Given the description of an element on the screen output the (x, y) to click on. 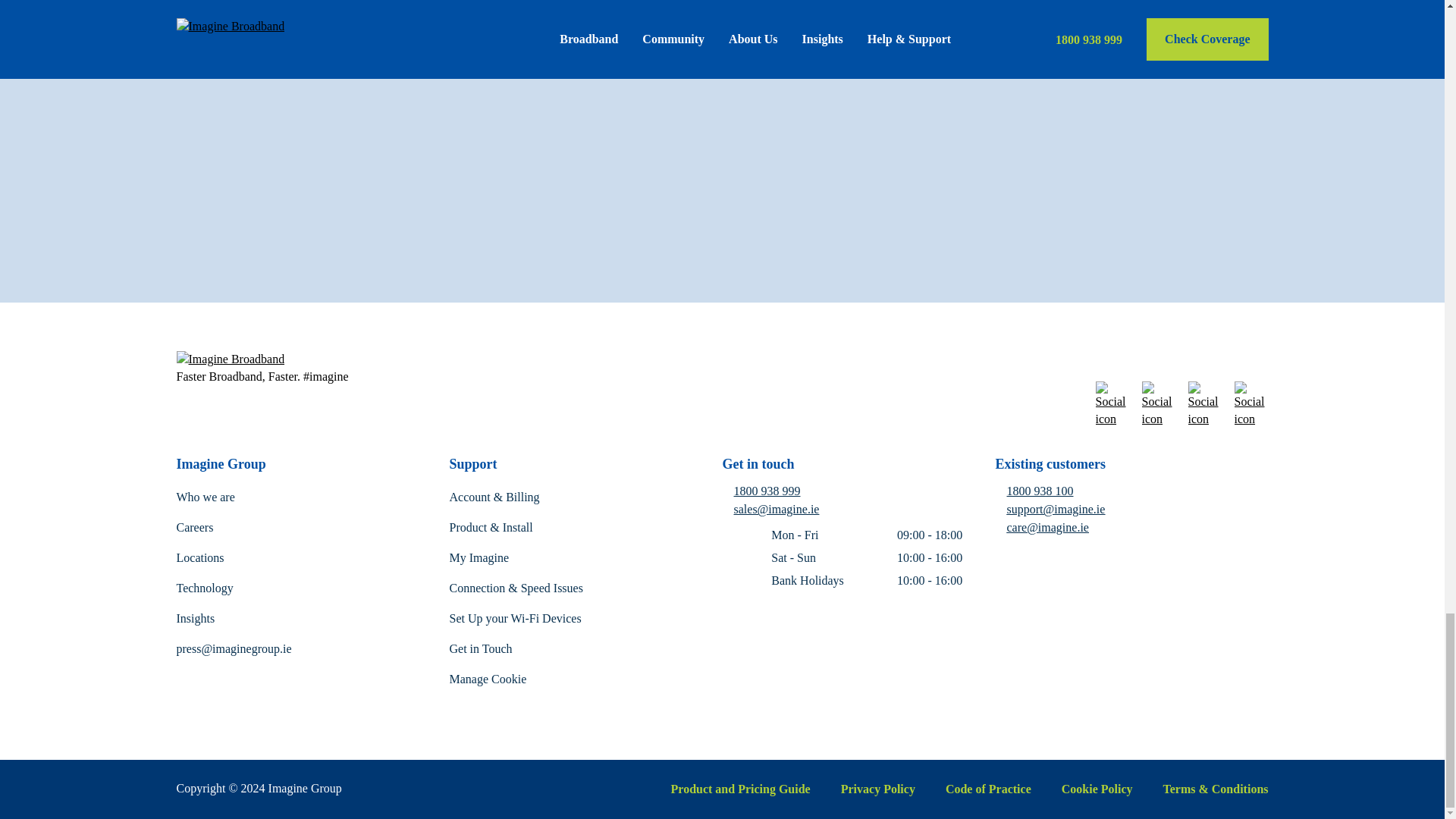
Technology (204, 587)
Who we are (205, 496)
Locations (200, 557)
Careers (194, 526)
Insights (195, 617)
